Given the description of an element on the screen output the (x, y) to click on. 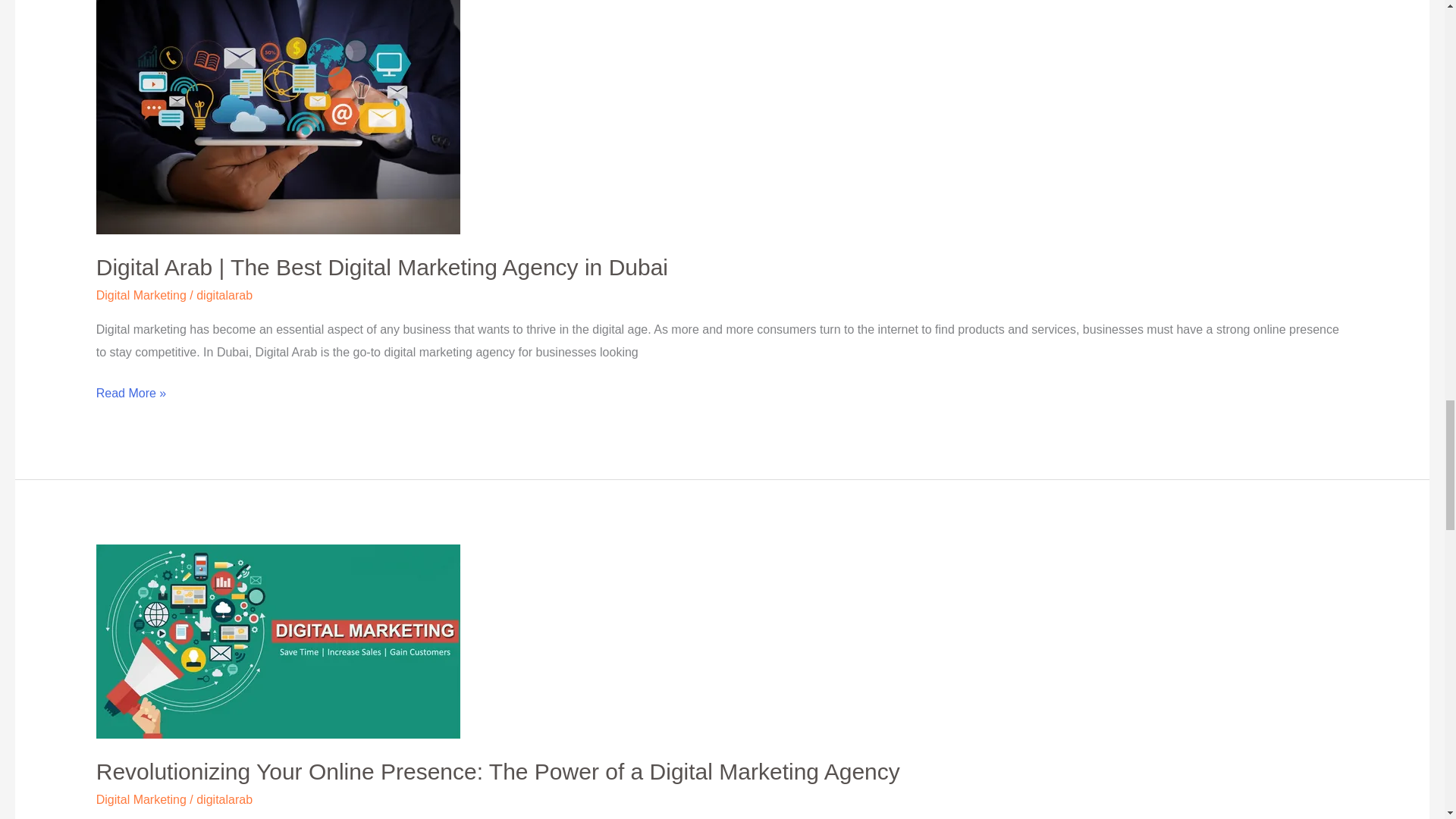
View all posts by digitalarab (223, 799)
View all posts by digitalarab (223, 295)
Digital Marketing (141, 799)
Digital Marketing (141, 295)
digitalarab (223, 295)
digitalarab (223, 799)
